Given the description of an element on the screen output the (x, y) to click on. 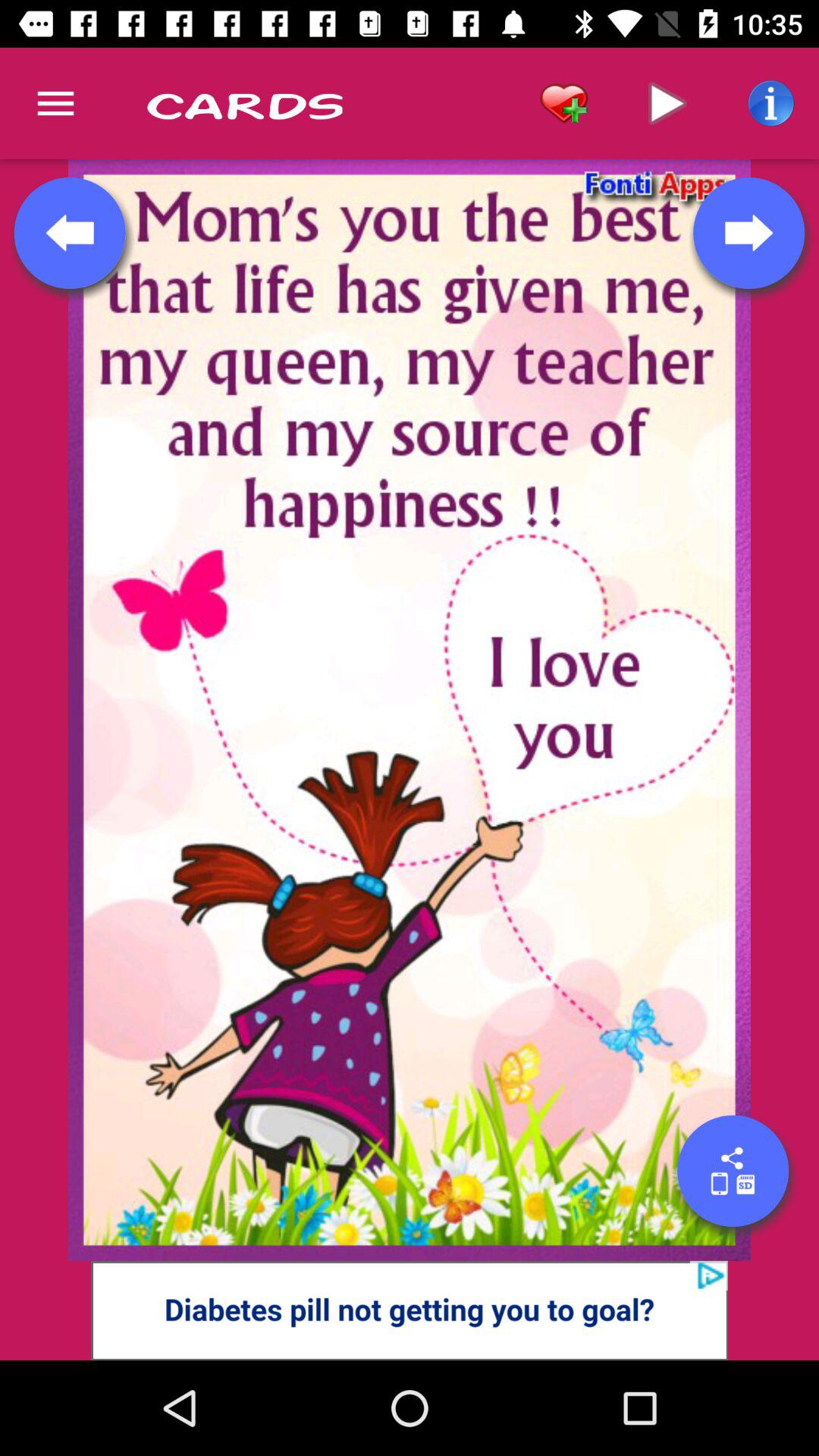
go to previous (69, 233)
